Given the description of an element on the screen output the (x, y) to click on. 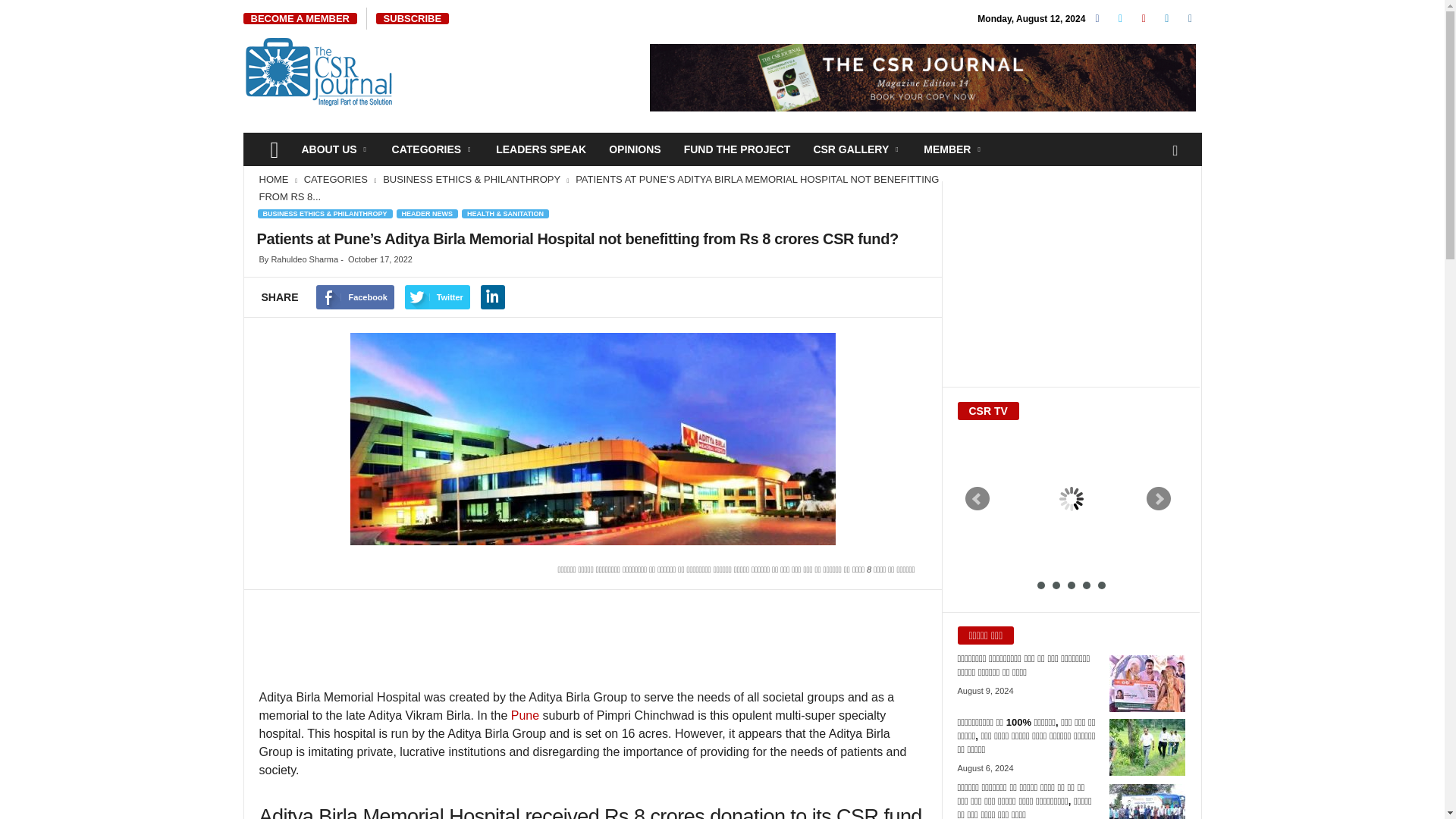
SUBSCRIBE (412, 18)
View all posts in CATEGORIES (337, 179)
Advertisement (592, 644)
BECOME A MEMBER (299, 18)
Aditya Birla Memorial Hospital (592, 446)
